Given the description of an element on the screen output the (x, y) to click on. 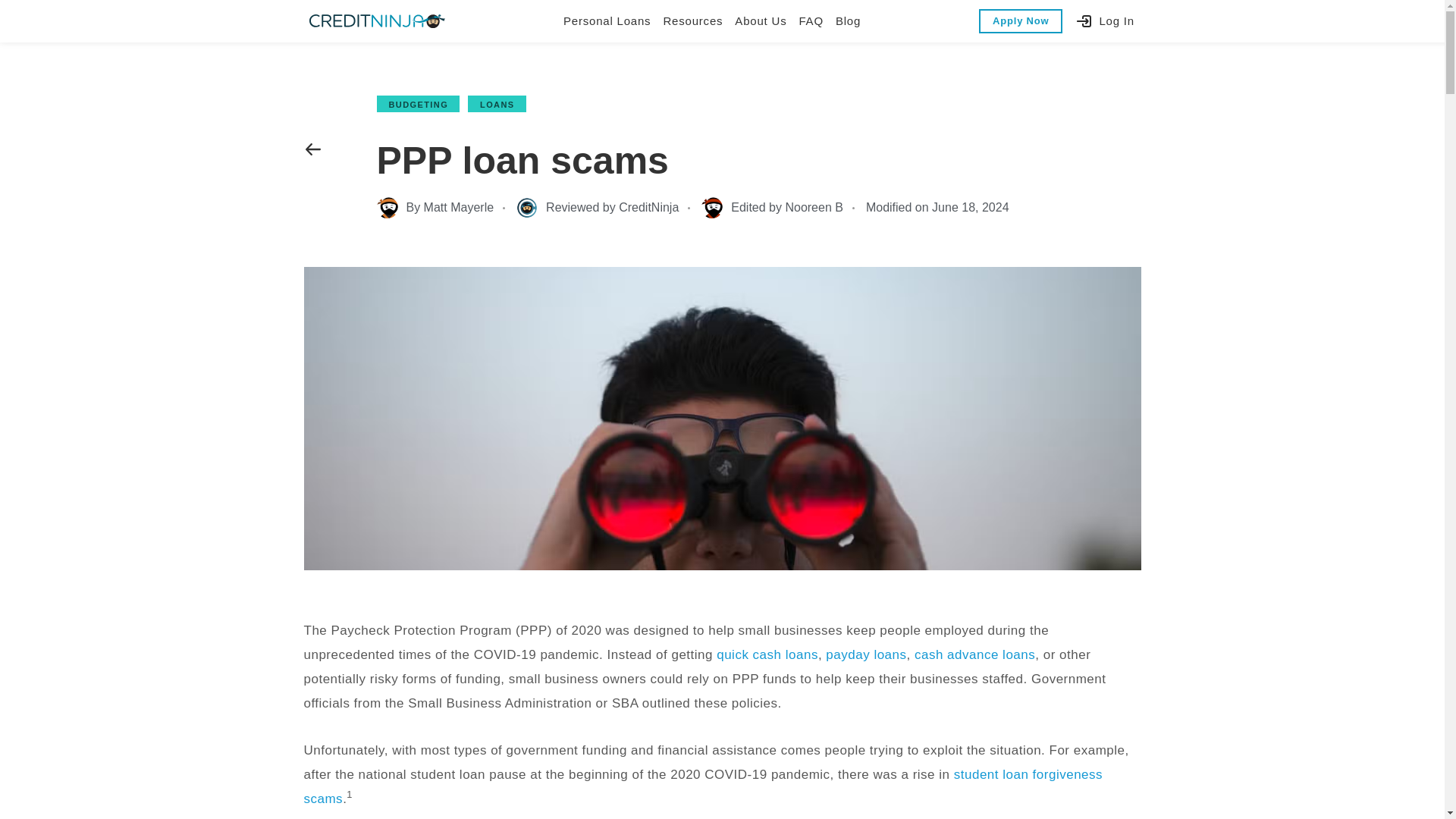
Log In (1104, 21)
About Us (760, 21)
By Matt Mayerle (434, 207)
Personal Loans (606, 21)
payday loans (865, 654)
Resources (692, 21)
BUDGETING (417, 104)
student loan forgiveness scams (702, 786)
Edited by Nooreen B (772, 207)
quick cash loans (767, 654)
LOANS (496, 104)
cash advance loans (974, 654)
Reviewed by CreditNinja (597, 207)
Apply Now (1020, 21)
